Given the description of an element on the screen output the (x, y) to click on. 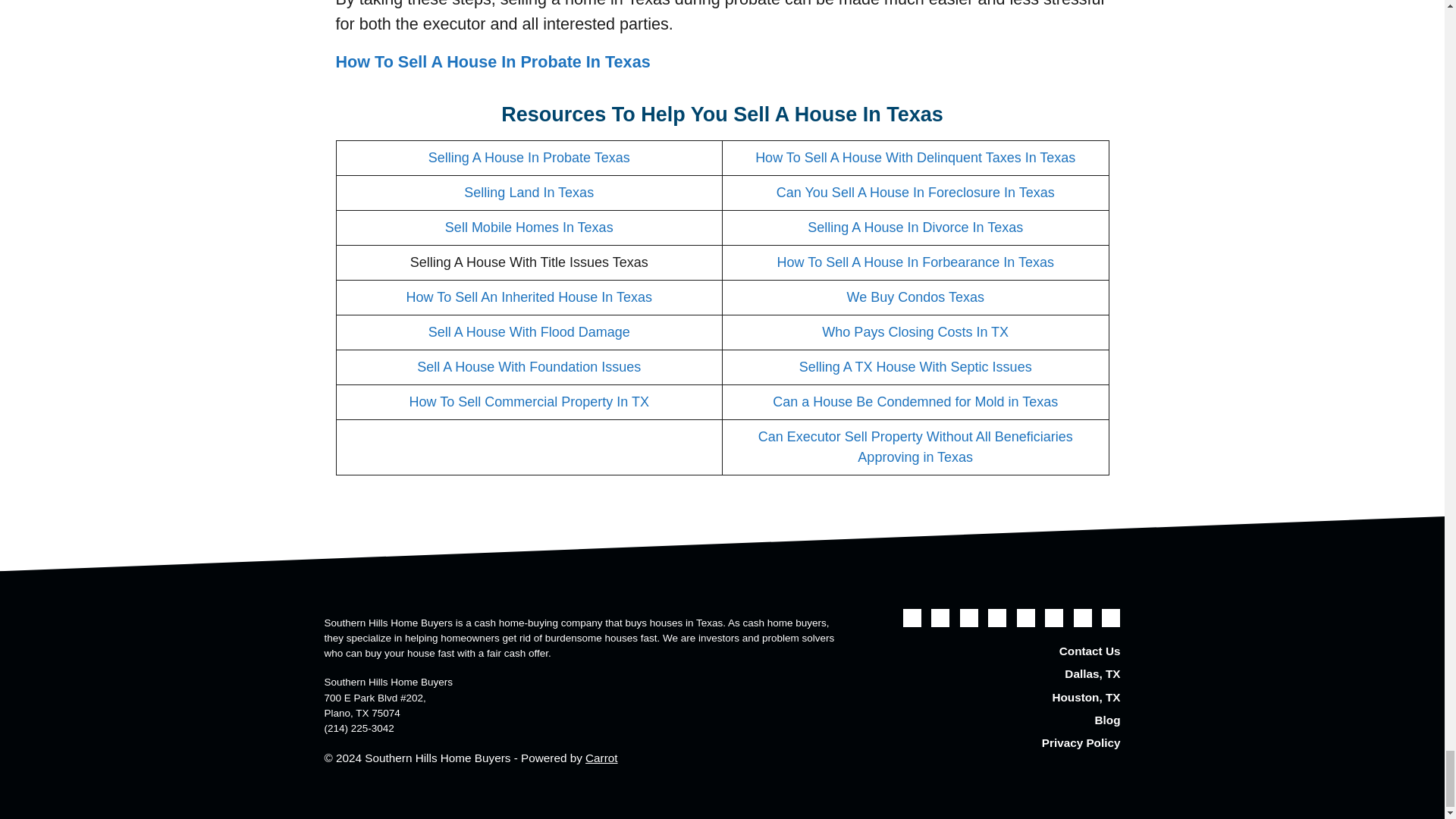
How To Sell A House In Probate In Texas (491, 61)
Selling A House In Probate Texas (529, 157)
